Given the description of an element on the screen output the (x, y) to click on. 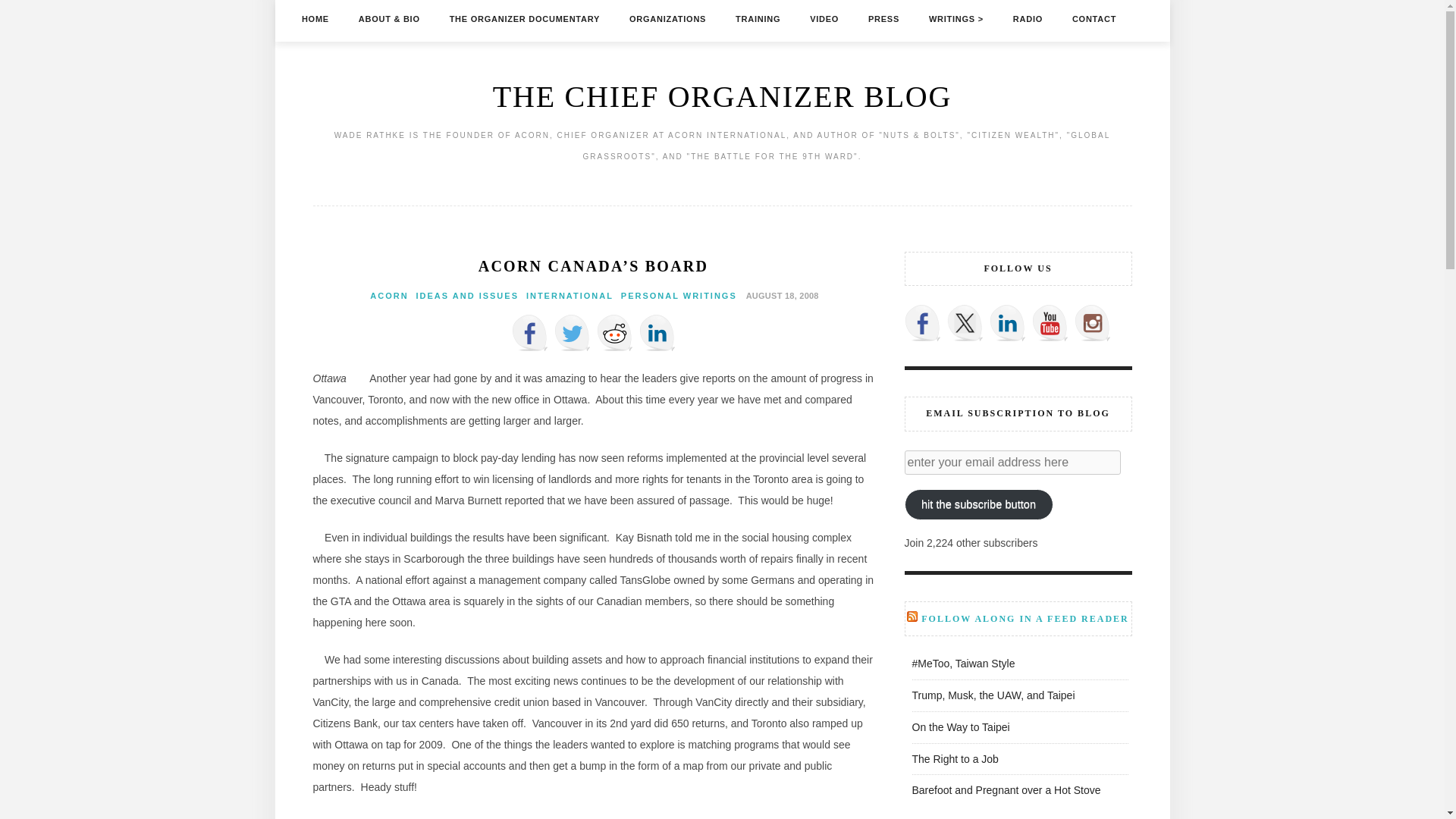
ACORN (388, 295)
CONTACT (1093, 18)
THE CHIEF ORGANIZER BLOG (722, 96)
Share on Facebook (529, 332)
IDEAS AND ISSUES (466, 295)
INTERNATIONAL (568, 295)
AUGUST 18, 2008 (780, 295)
PERSONAL WRITINGS (678, 295)
Share on LinkedIn (657, 332)
TRAINING (757, 18)
